Given the description of an element on the screen output the (x, y) to click on. 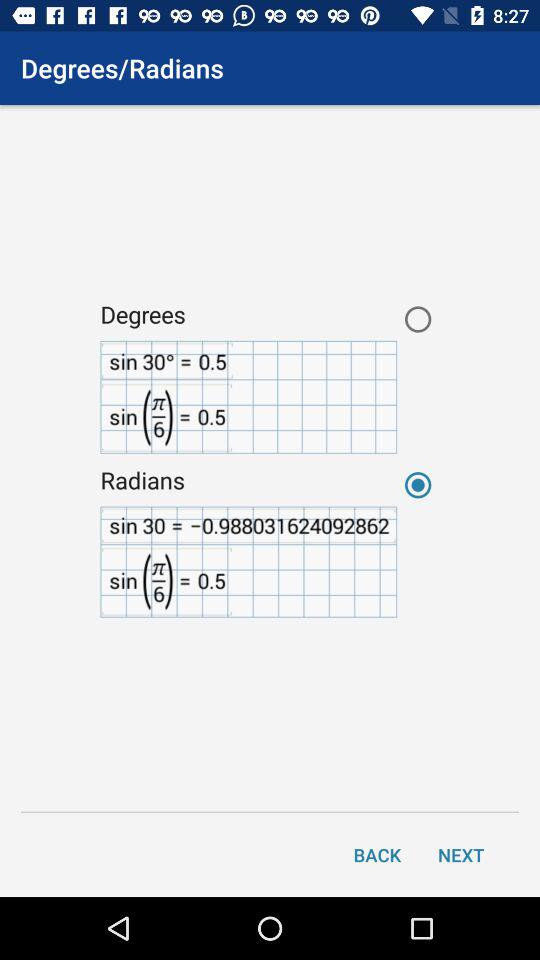
launch item next to the back (461, 854)
